Given the description of an element on the screen output the (x, y) to click on. 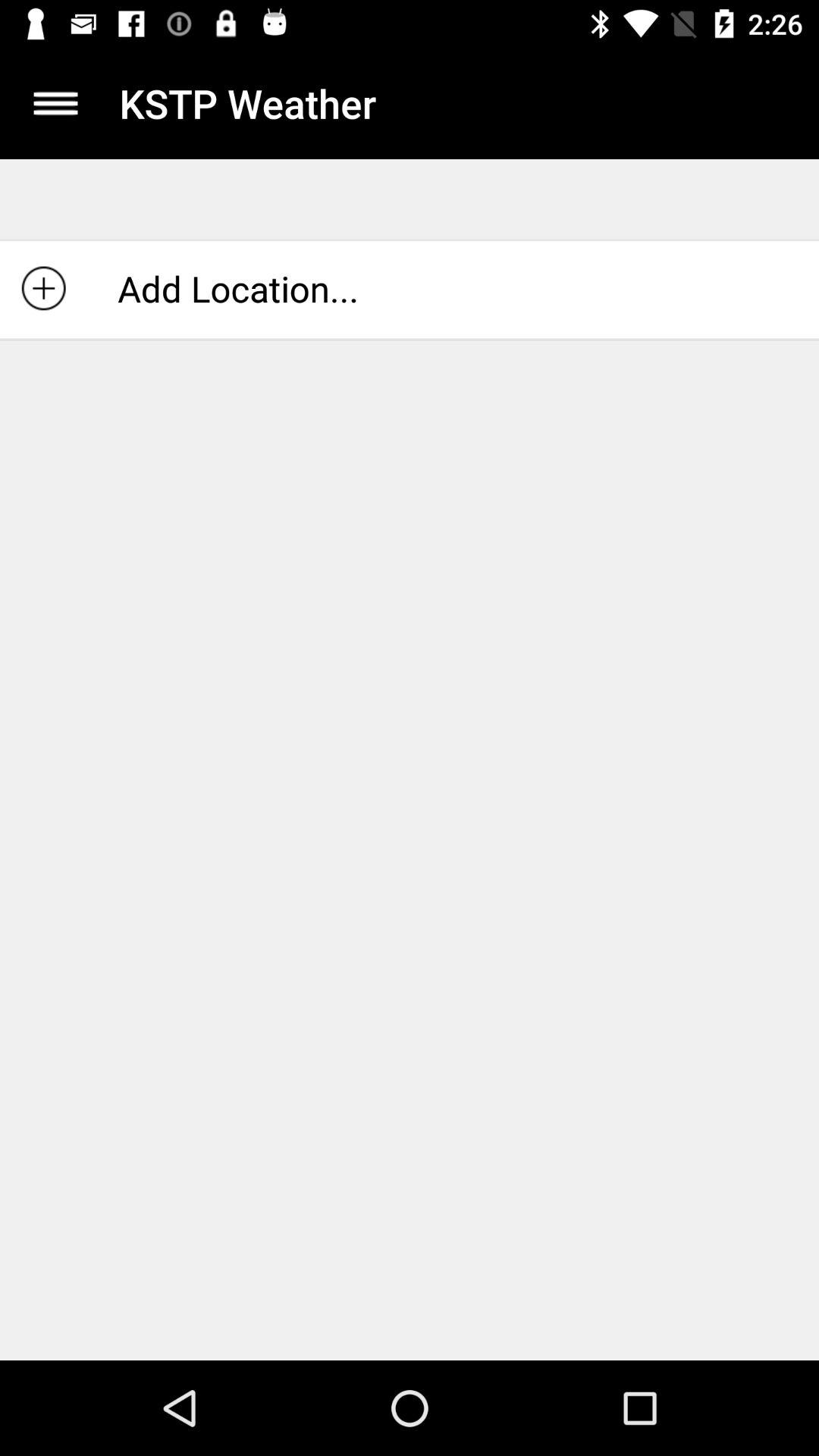
open the icon to the left of the kstp weather item (55, 103)
